Given the description of an element on the screen output the (x, y) to click on. 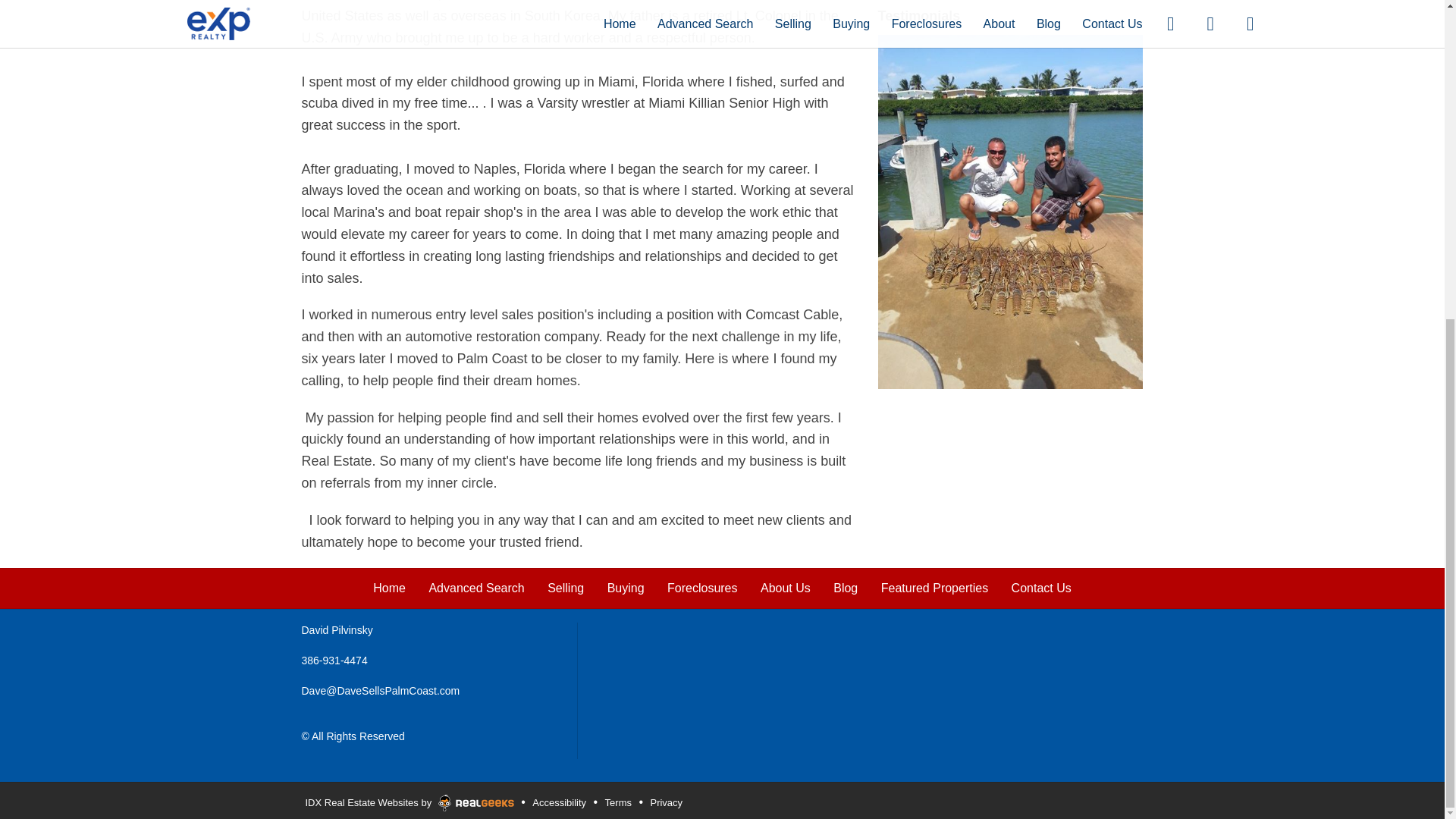
Contact Us (1041, 587)
Selling (565, 587)
IDX Real Estate Websites by (409, 799)
Terms (617, 802)
Home (389, 587)
Blog (844, 587)
About Us (785, 587)
Featured Properties (934, 587)
Buying (626, 587)
Foreclosures (701, 587)
Advanced Search (476, 587)
Privacy (665, 802)
Accessibility (558, 802)
